Given the description of an element on the screen output the (x, y) to click on. 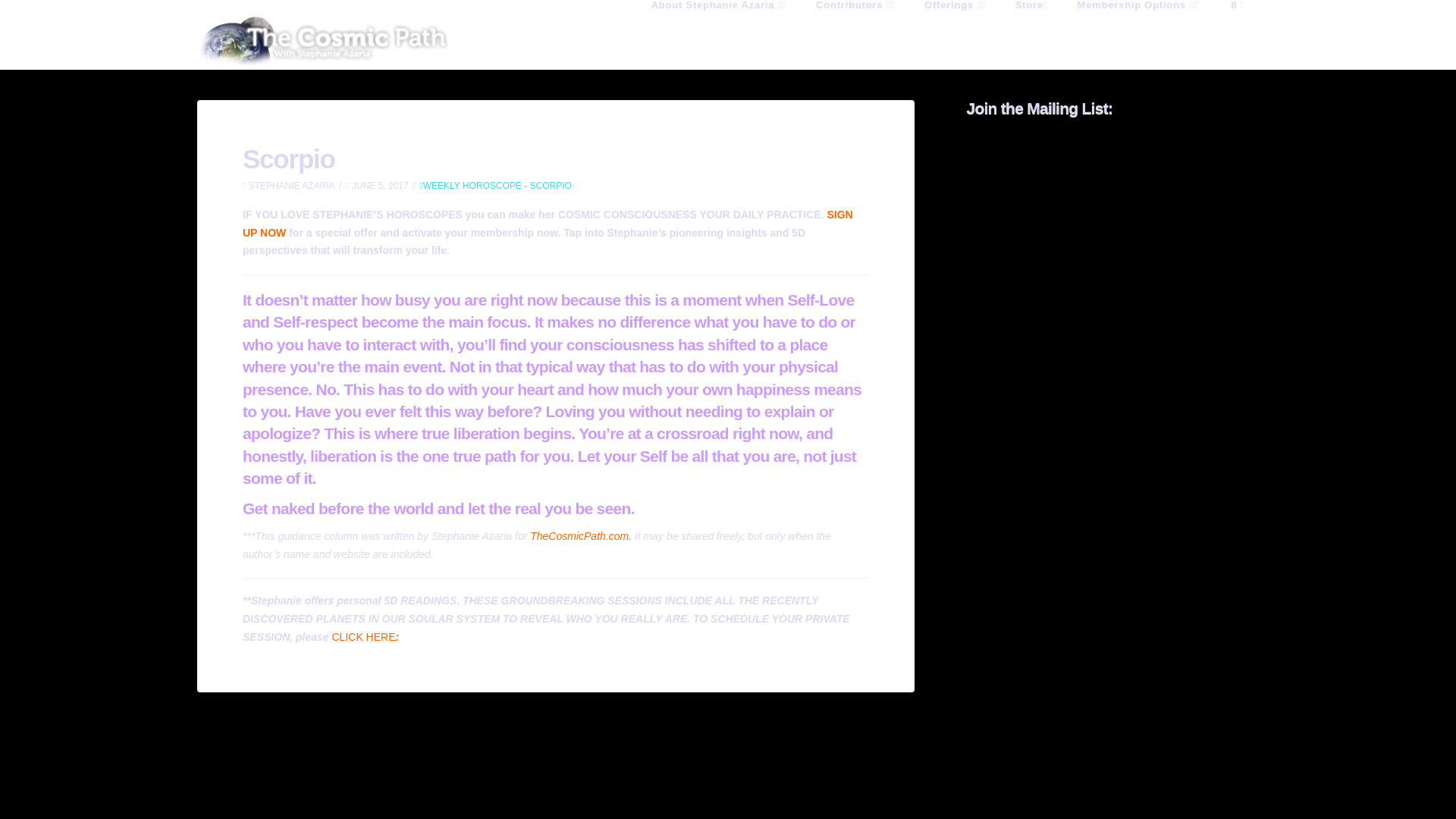
Store (1031, 30)
About Stephanie Azaria (718, 30)
Membership Options (1137, 30)
Offerings (954, 30)
Contributors (854, 30)
